Given the description of an element on the screen output the (x, y) to click on. 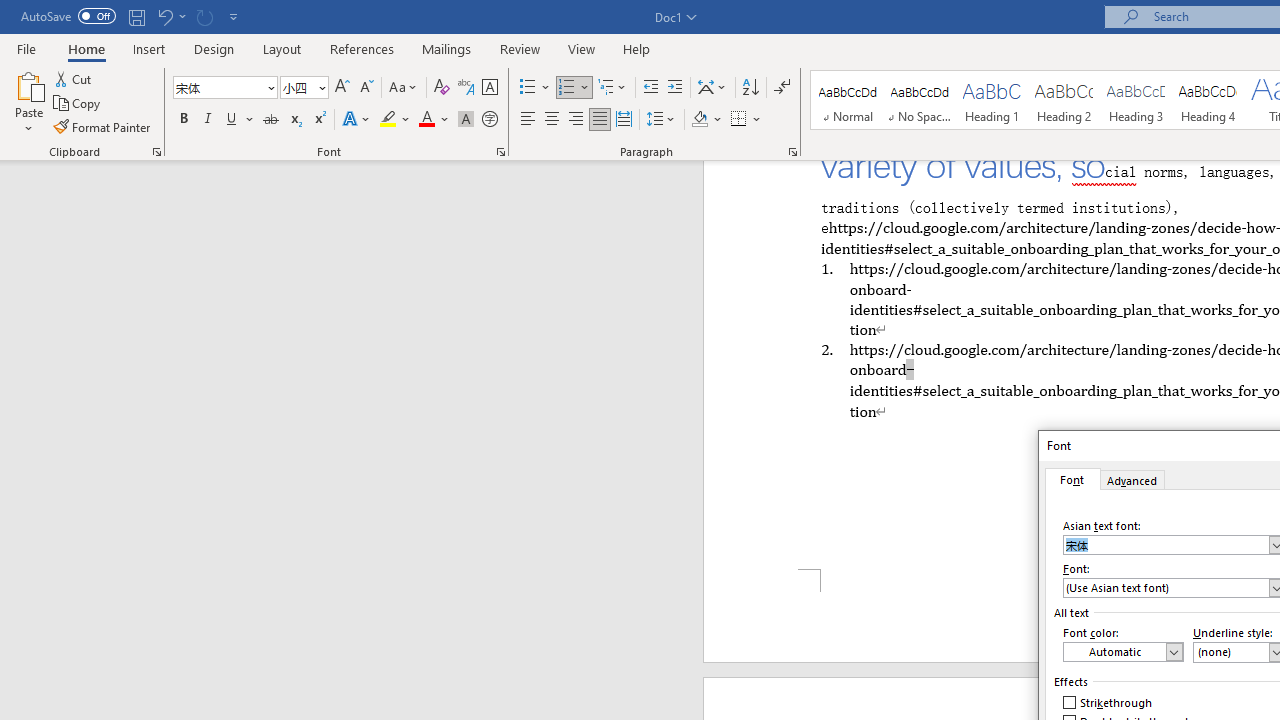
Superscript (319, 119)
Font... (500, 151)
Heading 4 (1208, 100)
Multilevel List (613, 87)
Font (1071, 479)
Change Case (404, 87)
Bullets (535, 87)
Shrink Font (365, 87)
Copy (78, 103)
Character Shading (465, 119)
Quick Access Toolbar (131, 16)
Strikethrough (1108, 702)
Justify (599, 119)
Font Size (297, 87)
View (582, 48)
